Given the description of an element on the screen output the (x, y) to click on. 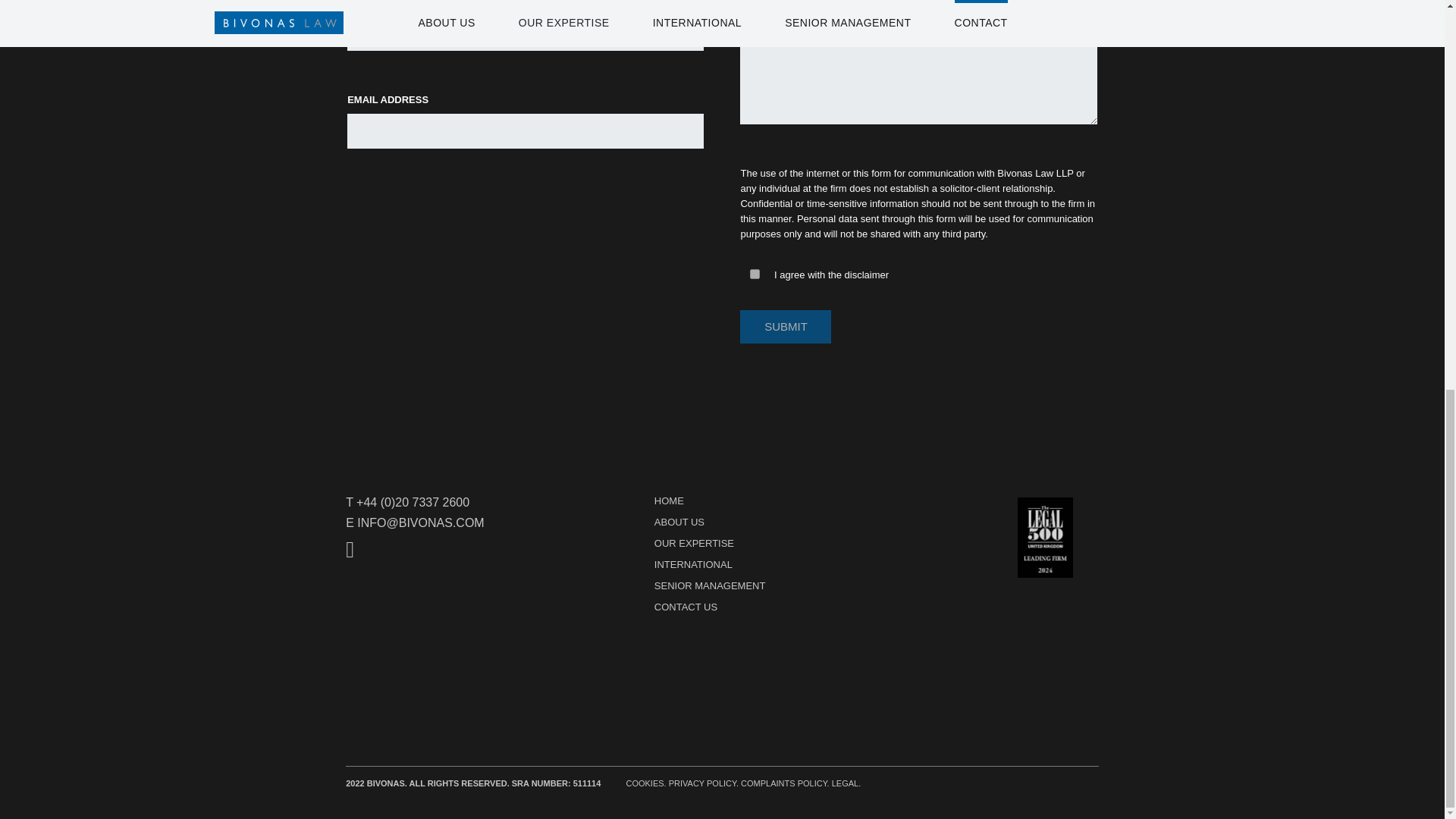
Bivonas Law LLP LinkedIn Profile (452, 550)
Submit (785, 326)
SRA (452, 655)
1 (754, 274)
